Given the description of an element on the screen output the (x, y) to click on. 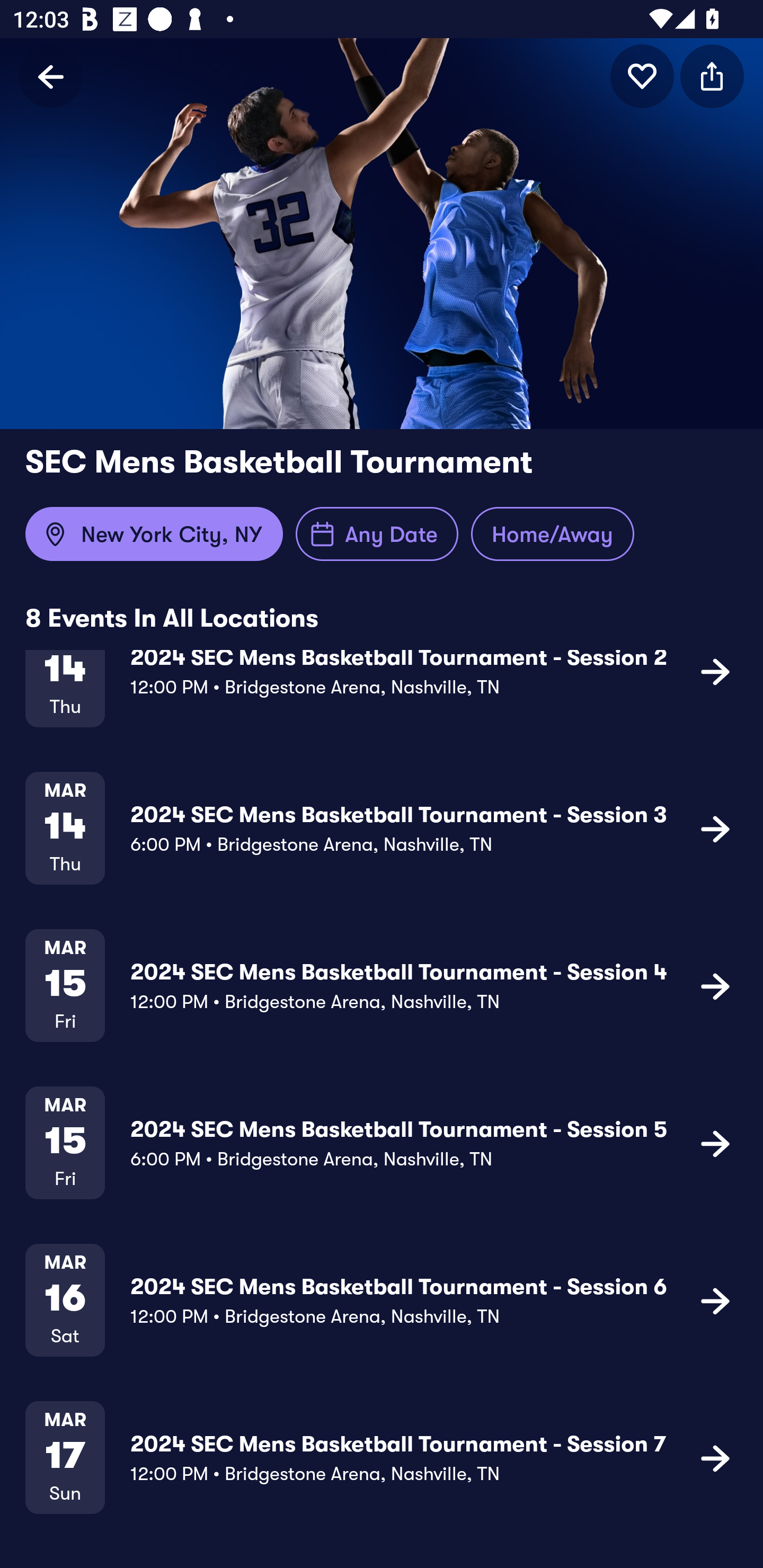
Back (50, 75)
icon button (641, 75)
icon button (711, 75)
New York City, NY (153, 533)
Any Date (377, 533)
Home/Away (552, 533)
icon button (714, 671)
icon button (714, 828)
icon button (714, 986)
icon button (714, 1143)
icon button (714, 1300)
icon button (714, 1458)
